Given the description of an element on the screen output the (x, y) to click on. 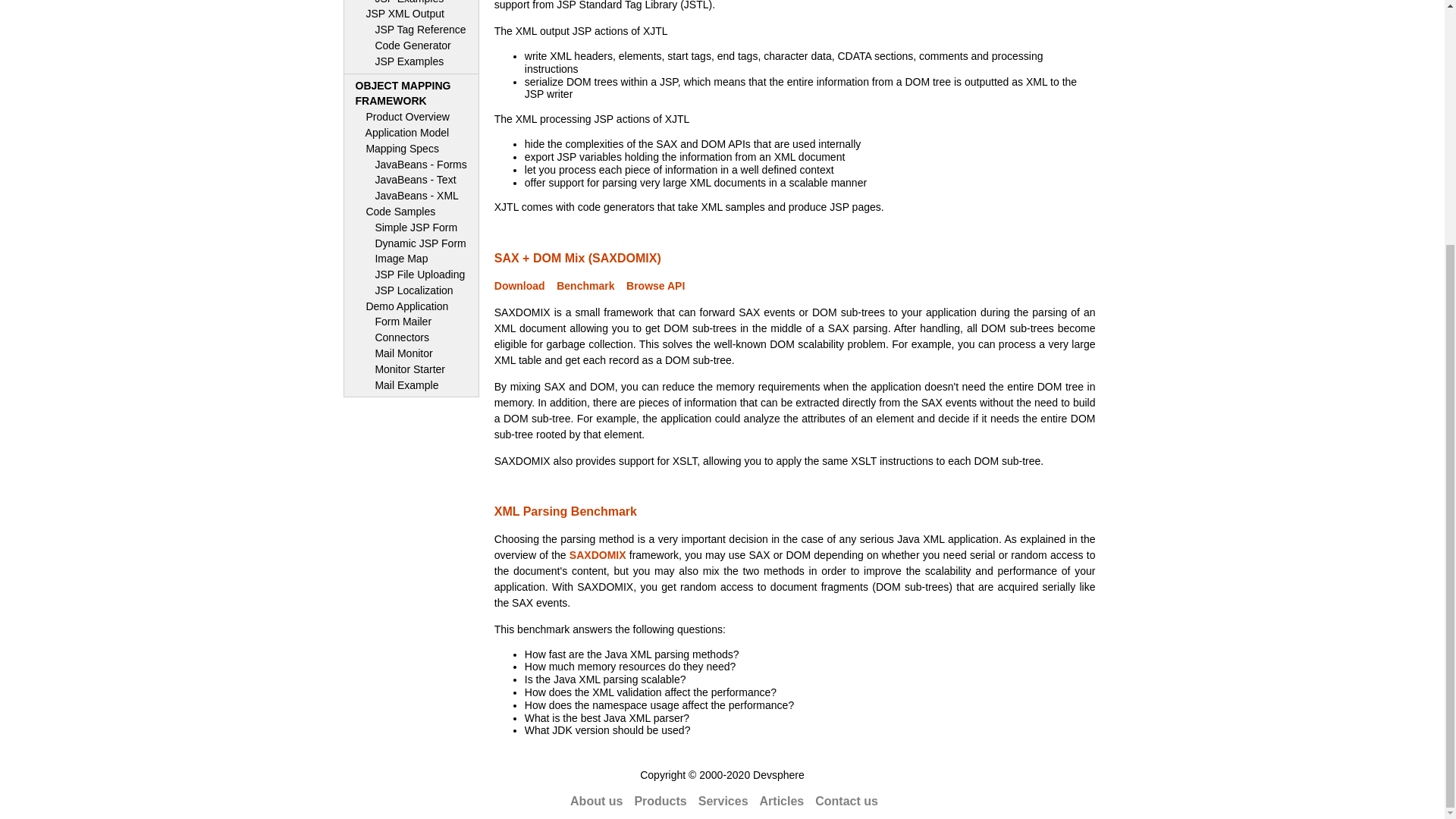
JavaBeans - Text (410, 93)
JSP Tag Reference (410, 179)
Mapping Specs (410, 29)
Application Model (410, 148)
Simple JSP Form (410, 132)
JavaBeans - Forms (410, 227)
JavaBeans - XML (410, 164)
Product Overview (410, 195)
Code Generator (410, 116)
JSP XML Output (410, 45)
JSP Examples (410, 13)
JSP Examples (410, 61)
Code Samples (410, 3)
